Given the description of an element on the screen output the (x, y) to click on. 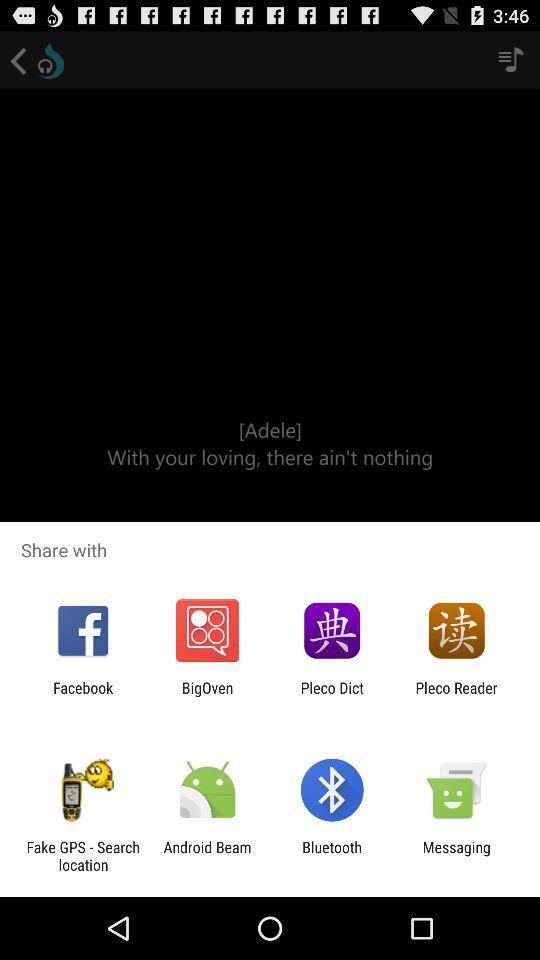
jump to the android beam icon (207, 856)
